Given the description of an element on the screen output the (x, y) to click on. 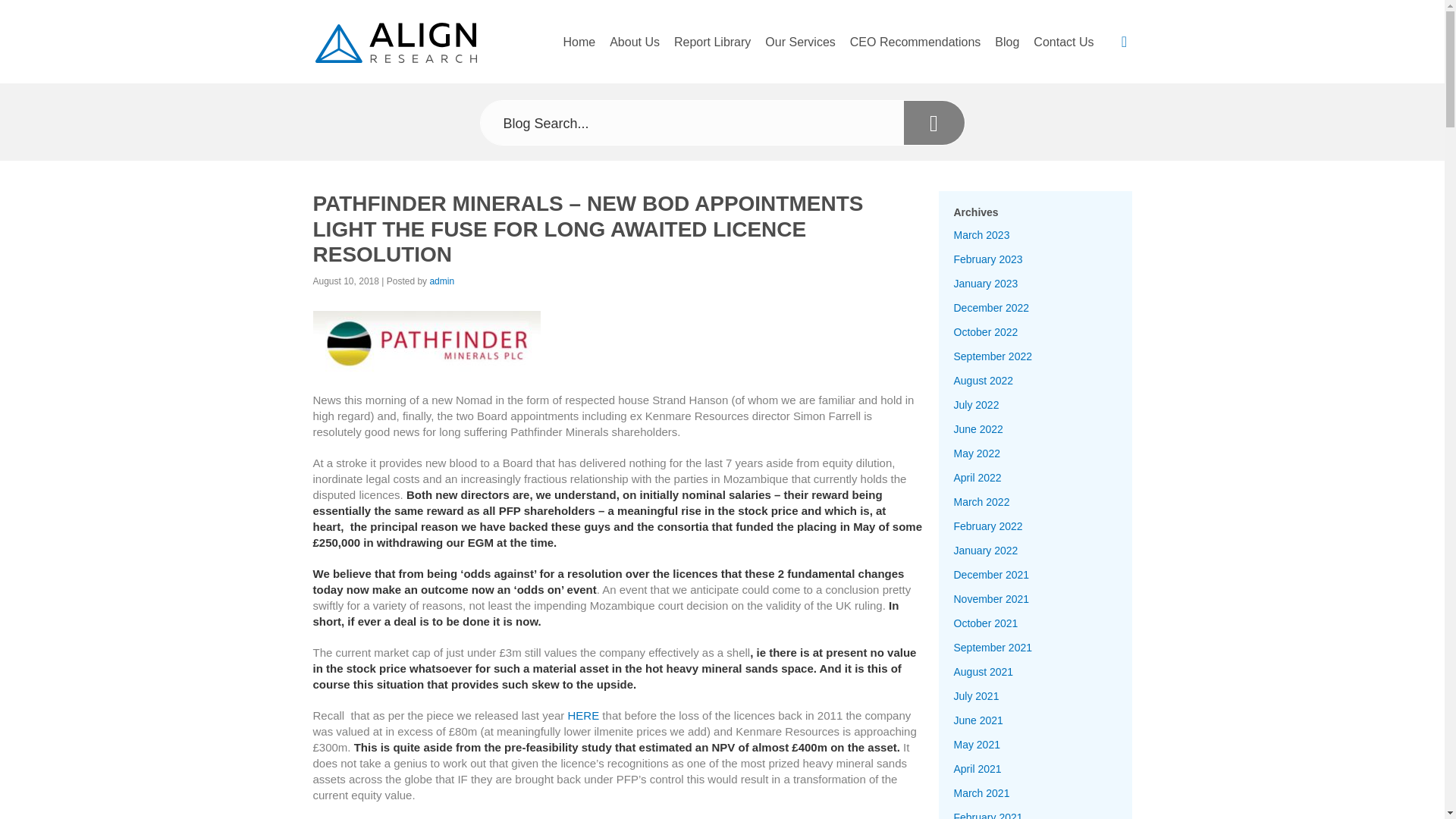
August 2021 (983, 671)
Blog (1006, 49)
Home (1318, 30)
September 2021 (992, 647)
Report Library (712, 49)
October 2022 (985, 331)
CEO Recommendations (1374, 143)
Home (578, 49)
December 2022 (991, 307)
February 2022 (988, 526)
admin (441, 281)
CEO Recommendations (915, 49)
January 2023 (985, 283)
July 2022 (975, 404)
Blog (1325, 185)
